Given the description of an element on the screen output the (x, y) to click on. 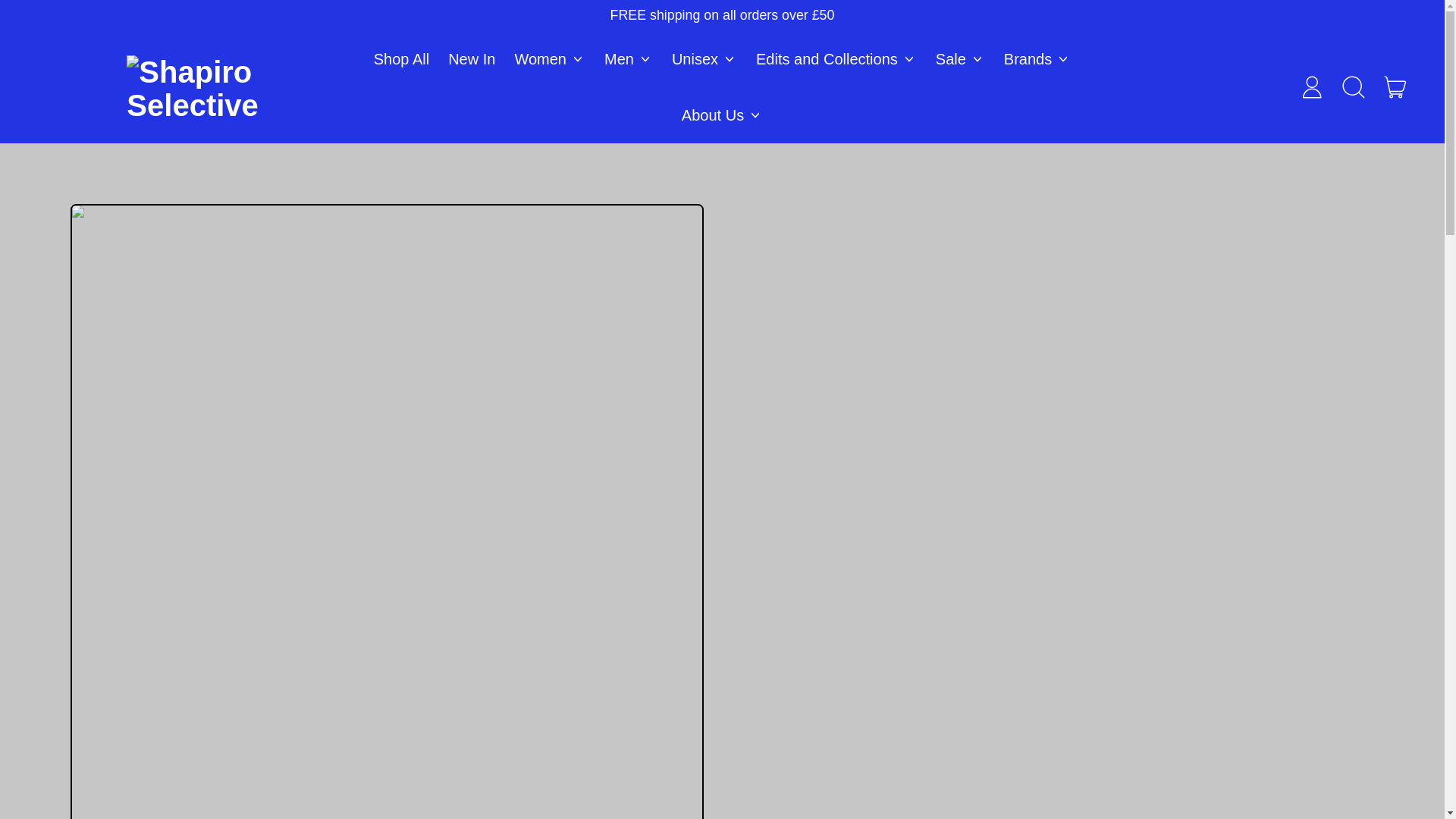
Men (628, 58)
Women (550, 58)
New In (472, 58)
Shop All (401, 58)
